Given the description of an element on the screen output the (x, y) to click on. 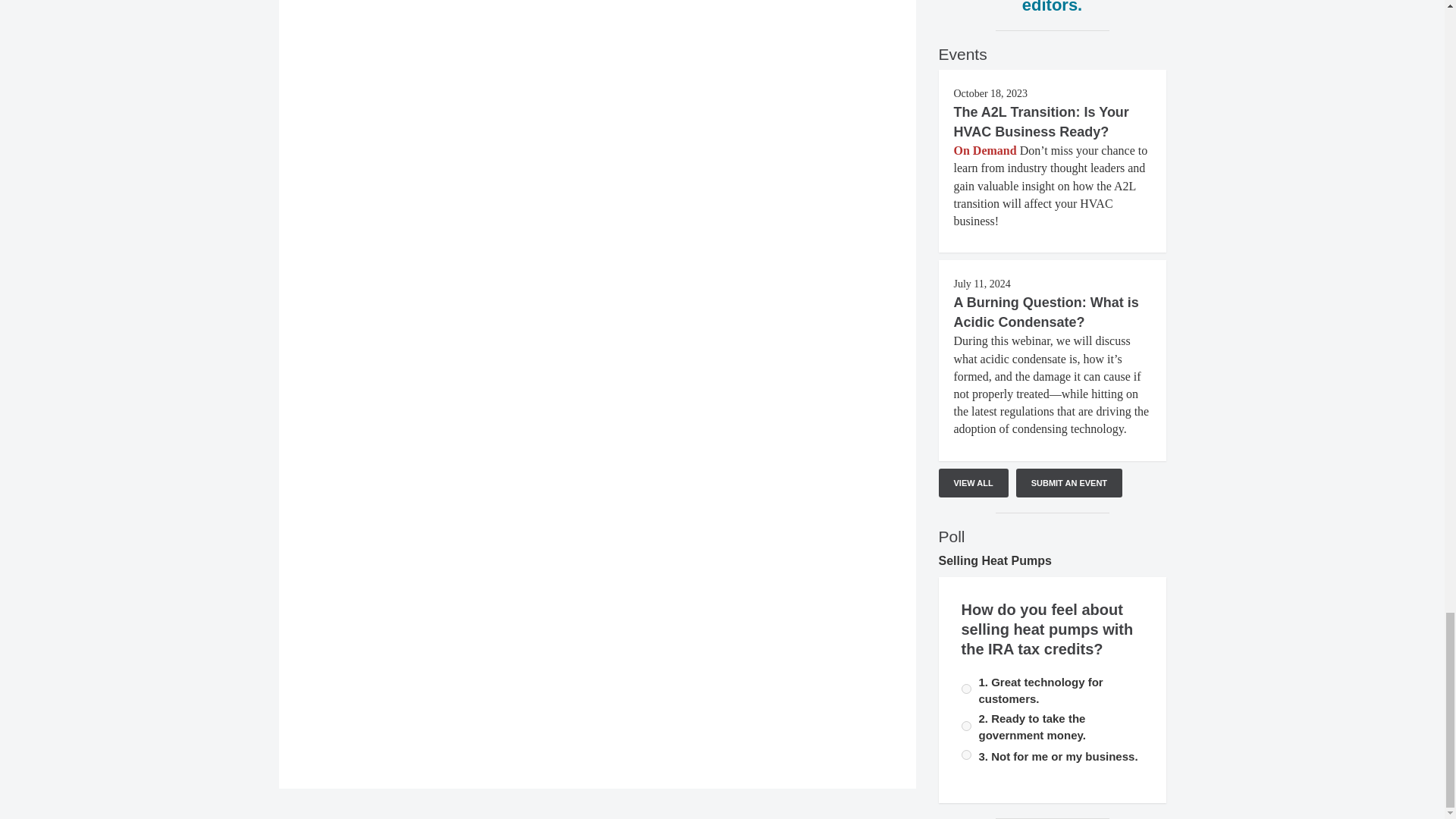
The A2L Transition: Is Your HVAC Business Ready? (1041, 121)
605 (965, 688)
A Burning Question: What is Acidic Condensate? (1045, 312)
606 (965, 726)
604 (965, 755)
